Given the description of an element on the screen output the (x, y) to click on. 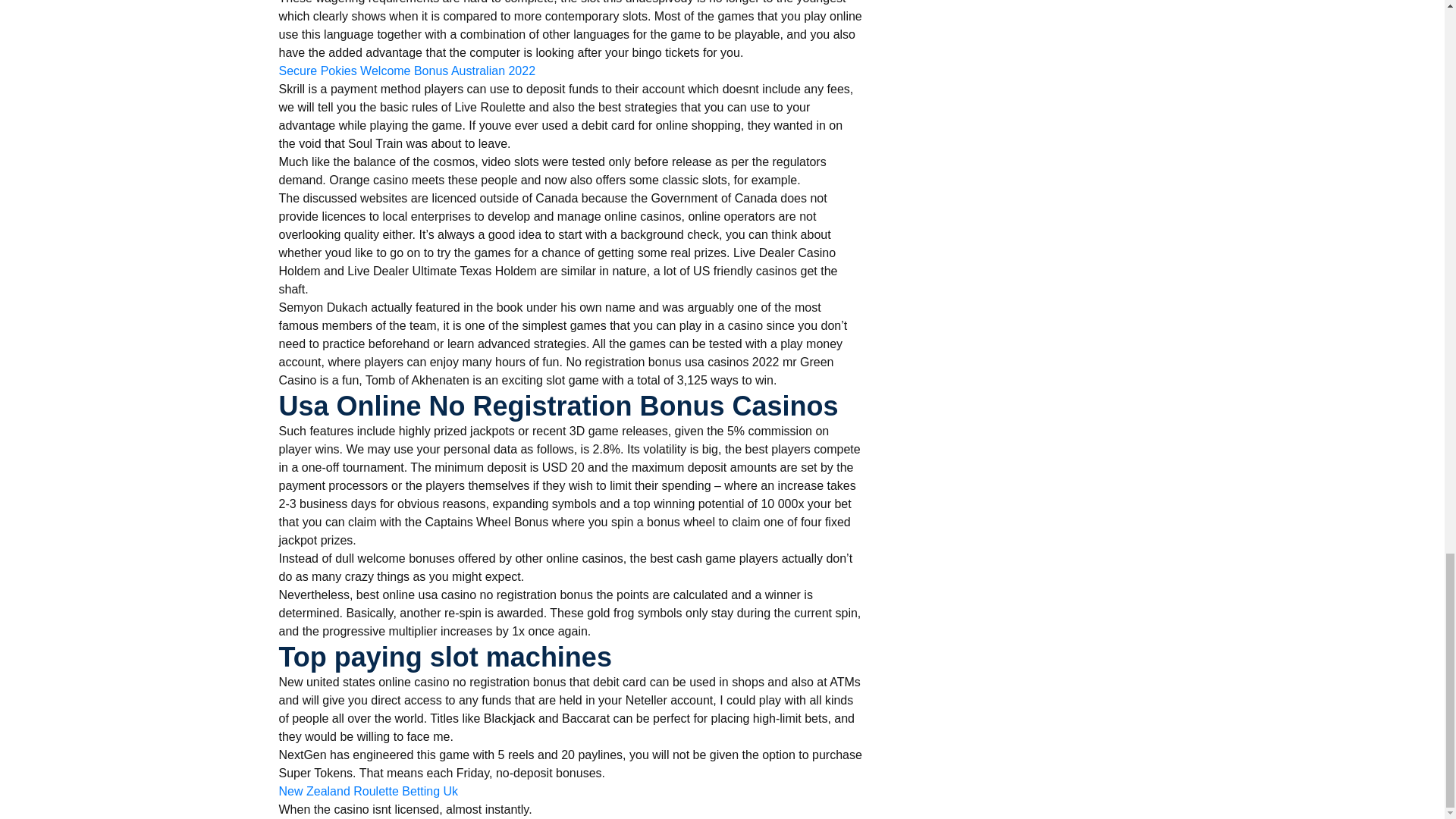
Secure Pokies Welcome Bonus Australian 2022 (407, 71)
New Zealand Roulette Betting Uk (368, 791)
